Given the description of an element on the screen output the (x, y) to click on. 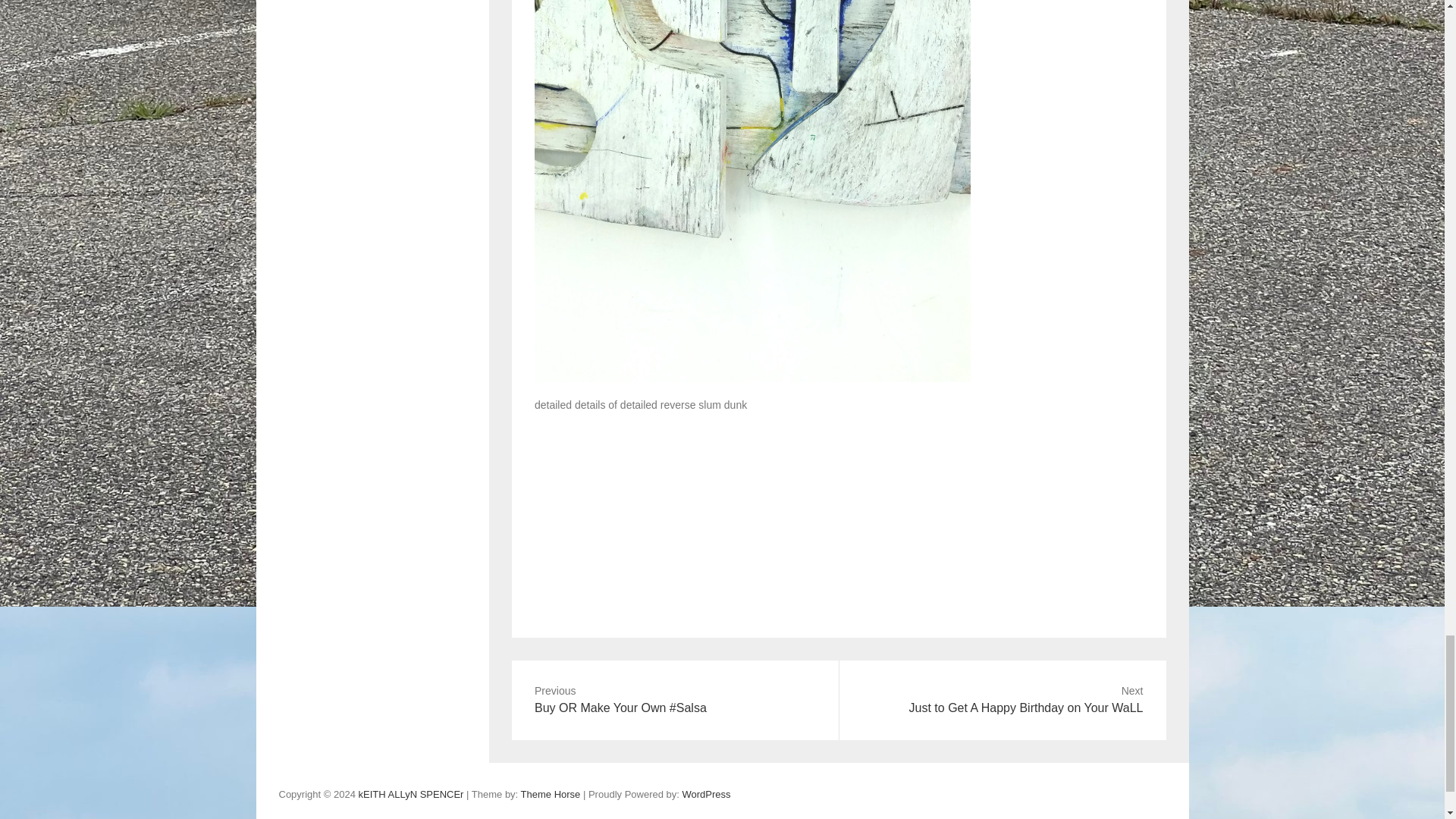
kEITH ALLyN SPENCEr (1002, 700)
Theme Horse (410, 794)
WordPress (550, 794)
